Given the description of an element on the screen output the (x, y) to click on. 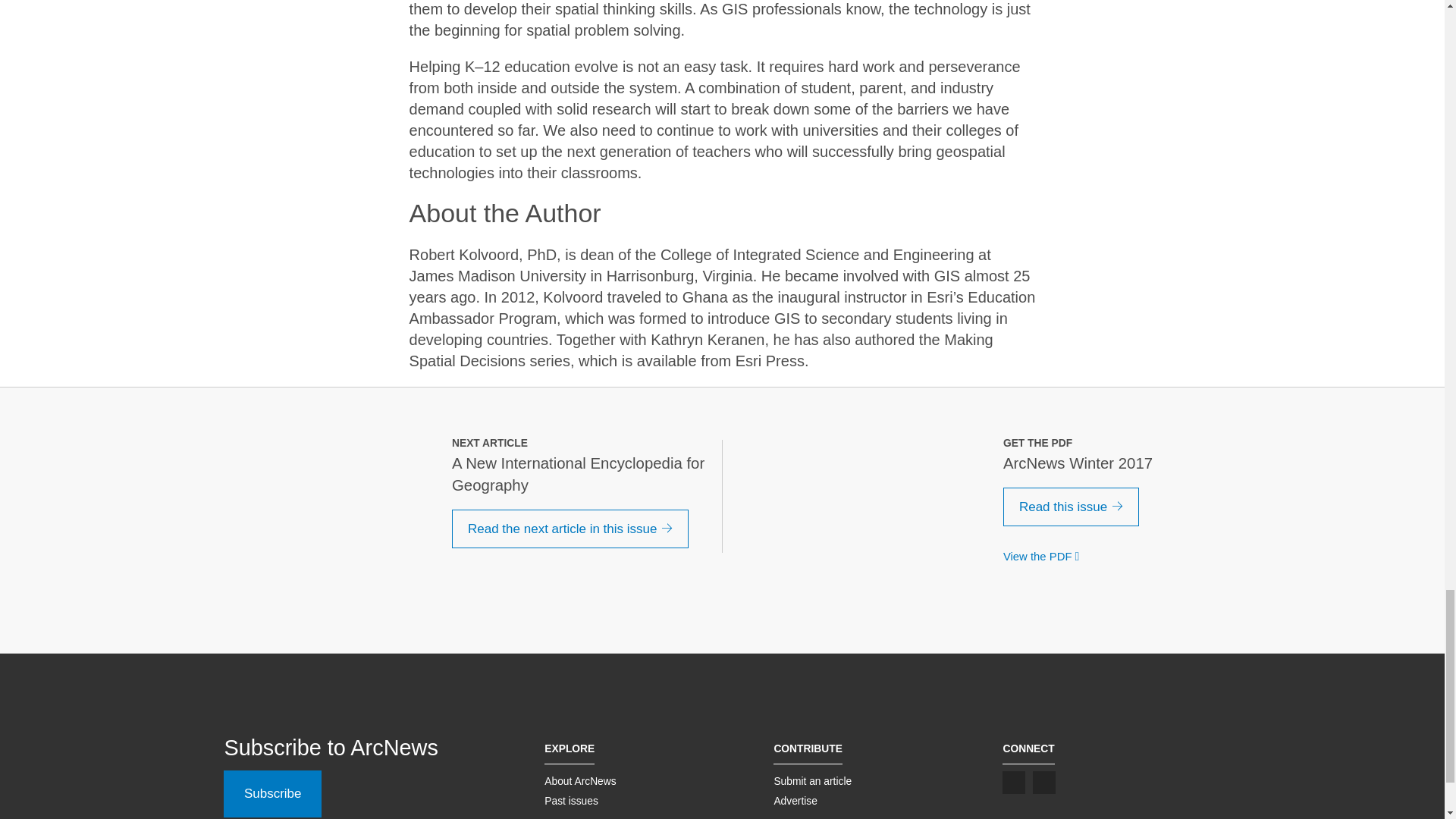
Read the next article in this issue (569, 528)
Read this issue (1070, 507)
About ArcNews (579, 780)
View the PDF (1044, 556)
Advertise (794, 800)
Past issues (571, 800)
Submit an article (812, 780)
Subscribe (272, 793)
